Given the description of an element on the screen output the (x, y) to click on. 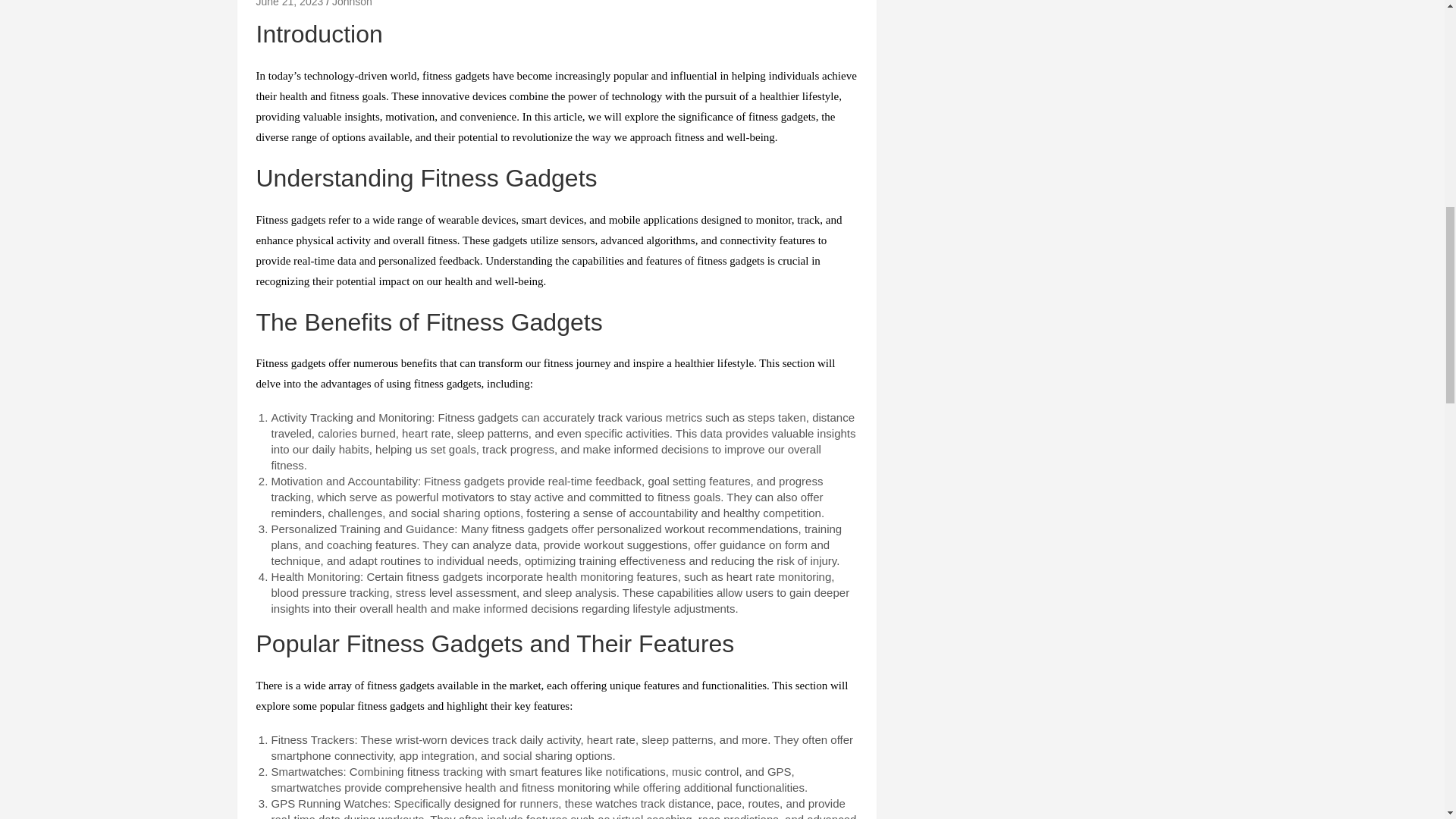
June 21, 2023 (289, 3)
Johnson (351, 3)
